Given the description of an element on the screen output the (x, y) to click on. 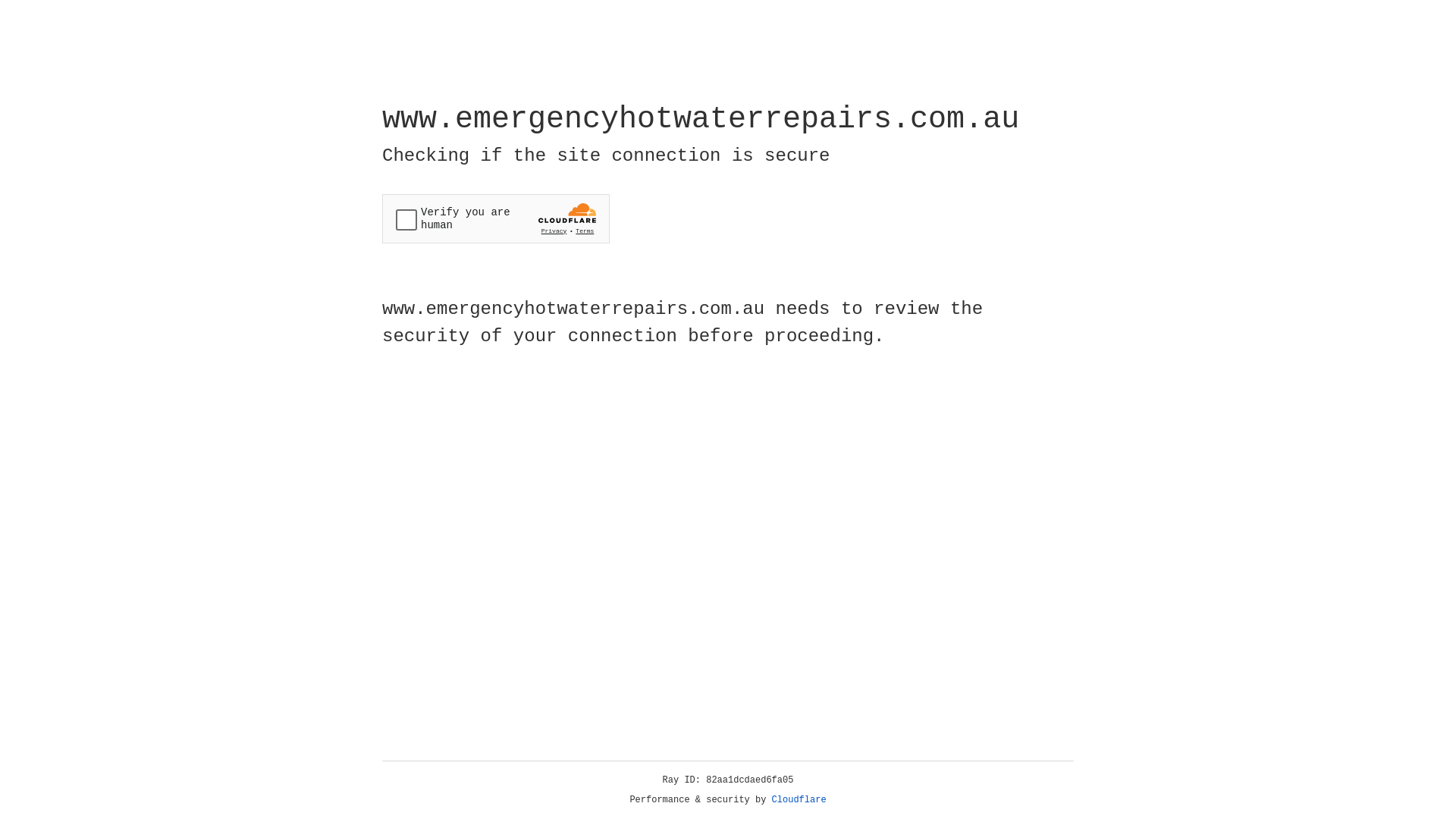
Widget containing a Cloudflare security challenge Element type: hover (495, 218)
Cloudflare Element type: text (798, 799)
